Given the description of an element on the screen output the (x, y) to click on. 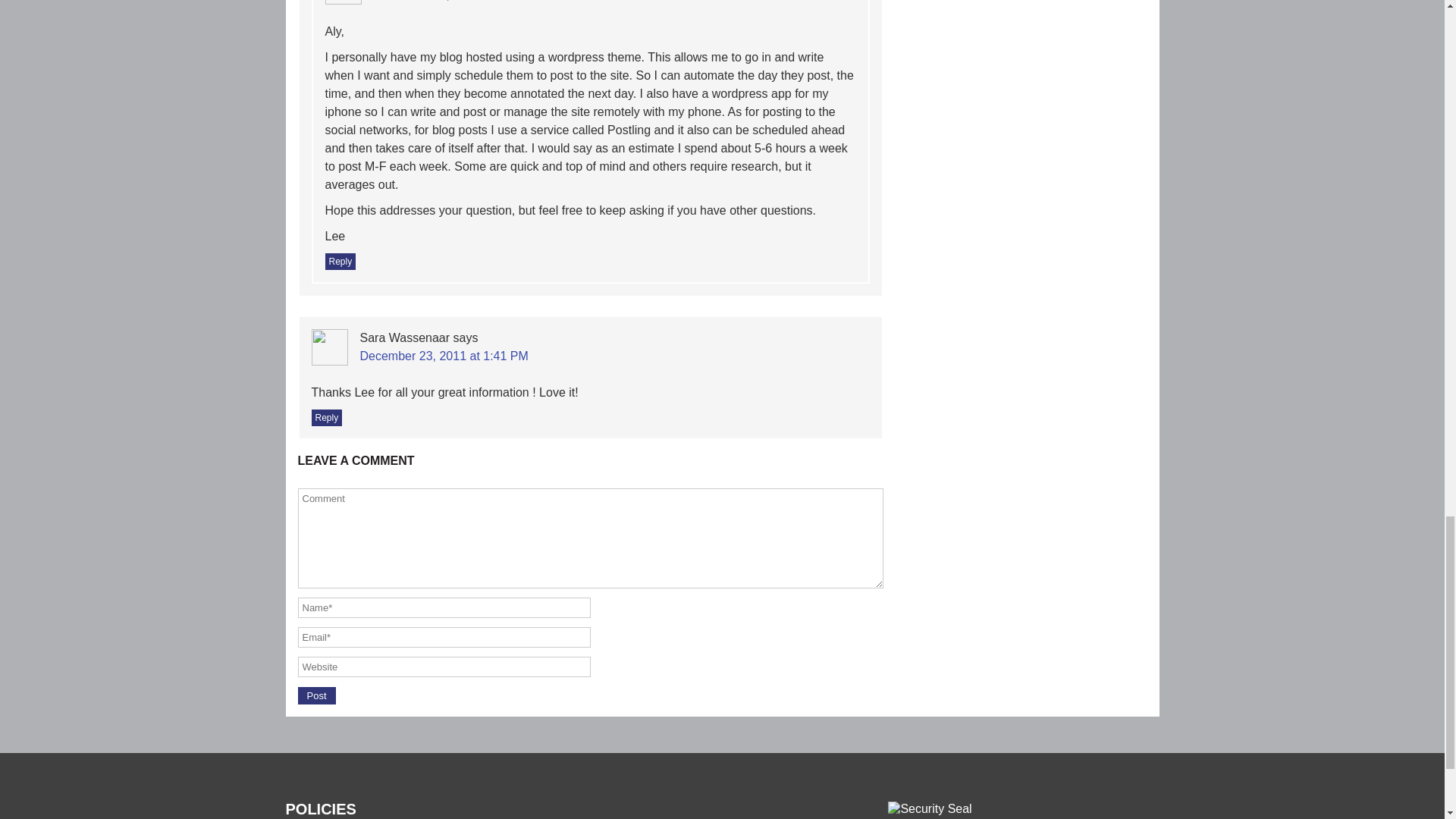
December 23, 2011 at 1:41 PM (443, 355)
Reply (339, 261)
Reply (326, 417)
Post (315, 695)
Post (315, 695)
